Given the description of an element on the screen output the (x, y) to click on. 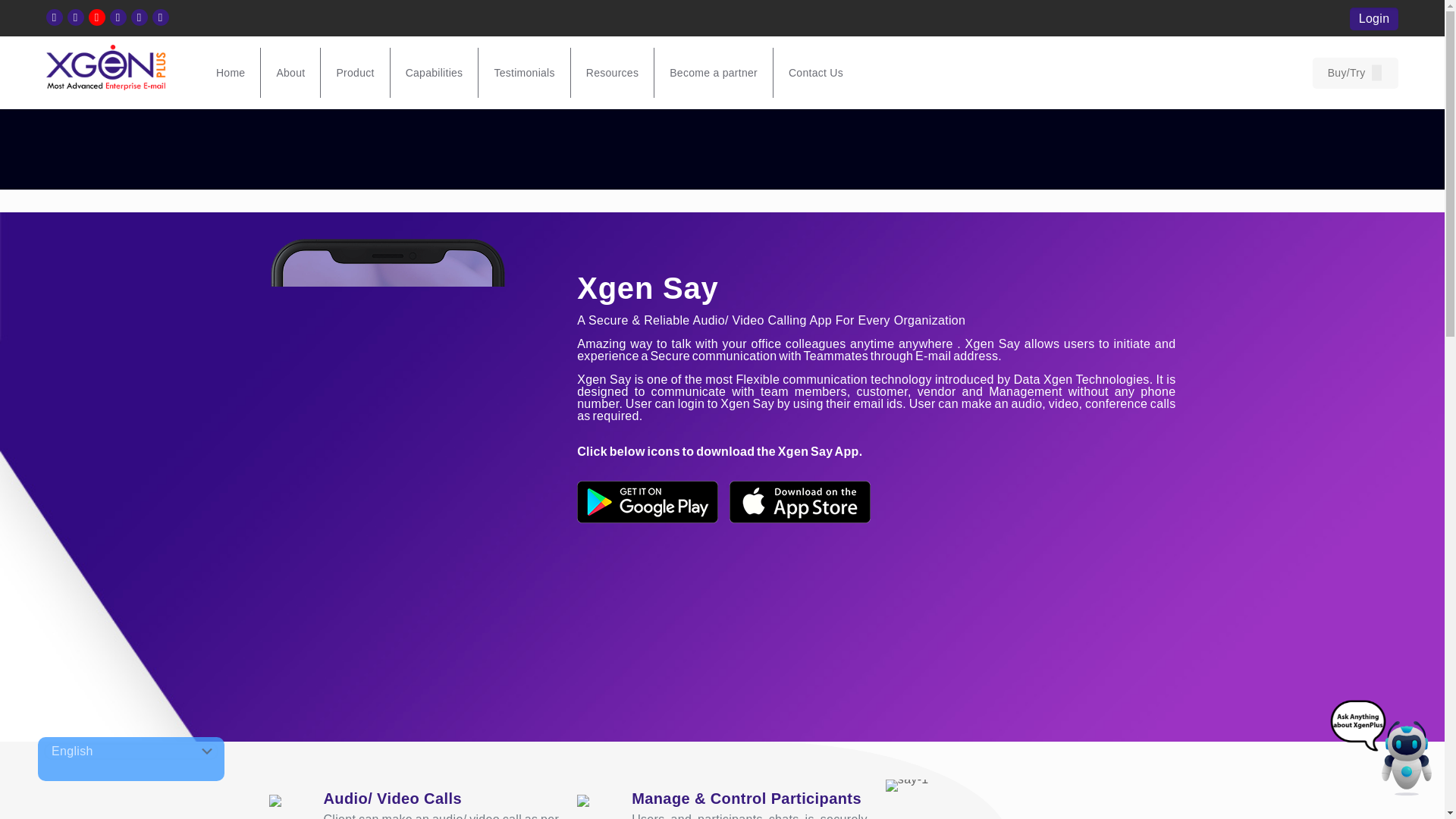
Twitter (74, 16)
LinkedIn (117, 16)
Login (1374, 17)
Product (355, 72)
Resources (611, 72)
Capabilities (434, 72)
Testimonials (524, 72)
YouTube (96, 16)
Instagram (139, 16)
Become a partner (713, 72)
